Given the description of an element on the screen output the (x, y) to click on. 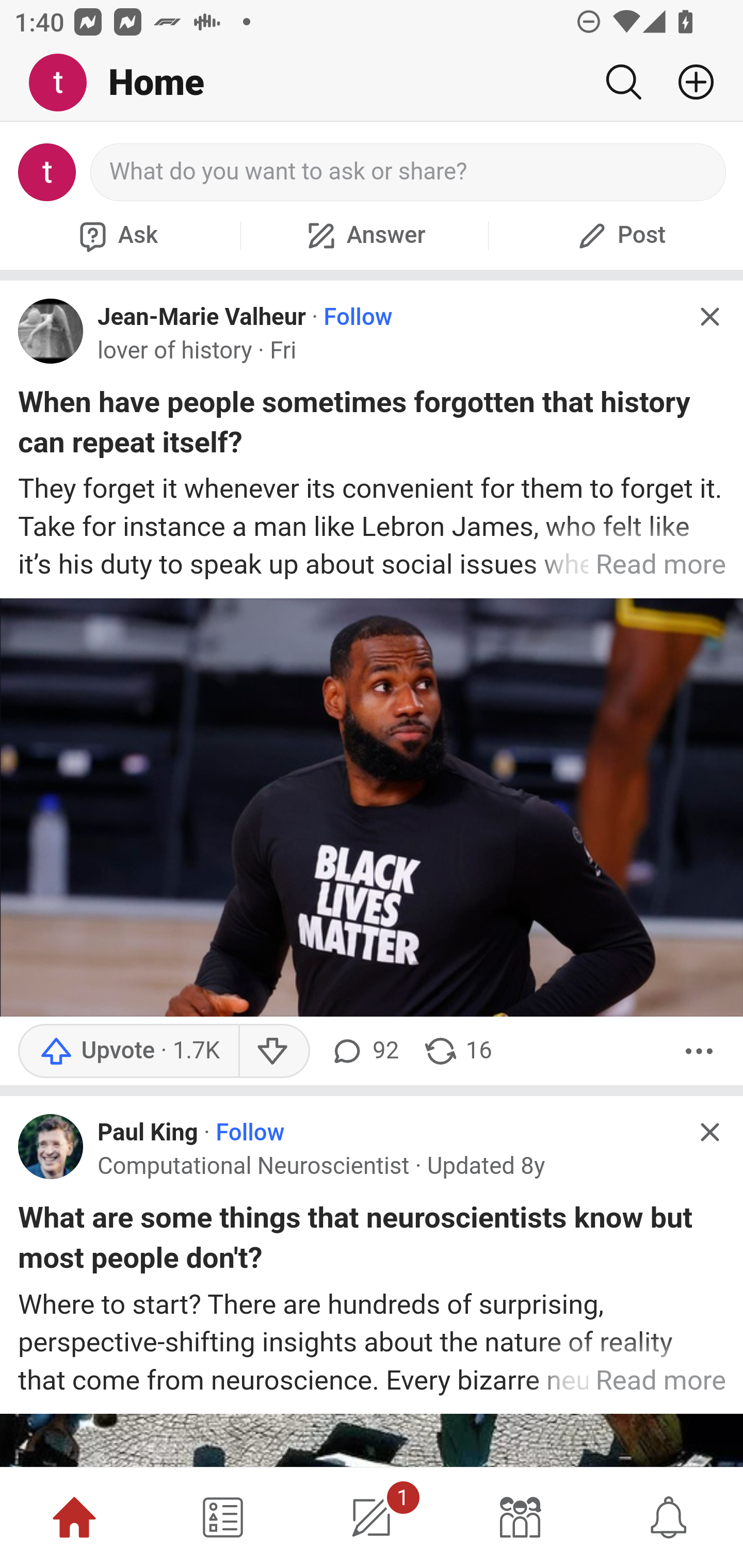
Me (64, 83)
Search (623, 82)
Add (688, 82)
What do you want to ask or share? (408, 172)
Ask (116, 234)
Answer (364, 234)
Post (618, 234)
Hide (709, 316)
Profile photo for Jean-Marie Valheur (50, 330)
Jean-Marie Valheur (201, 316)
Follow (358, 316)
Upvote (127, 1050)
Downvote (273, 1050)
92 comments (363, 1050)
16 shares (457, 1050)
More (699, 1050)
Hide (709, 1131)
Profile photo for Paul King (50, 1146)
Paul King (147, 1132)
Follow (249, 1132)
1 (371, 1517)
